Given the description of an element on the screen output the (x, y) to click on. 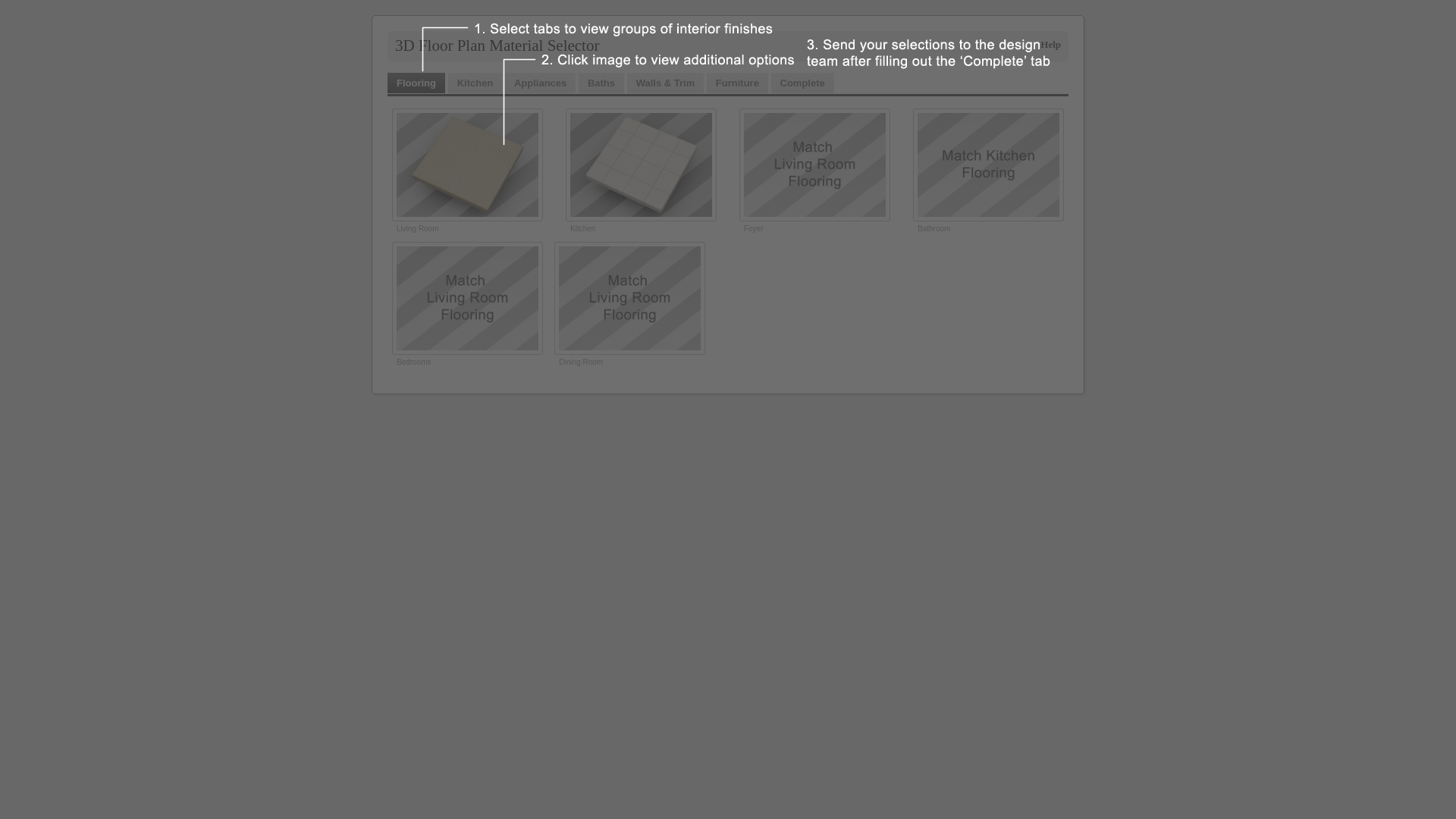
Dining Room Element type: text (580, 361)
Appliances Element type: text (540, 82)
Bathroom Element type: text (933, 228)
Foyer Element type: text (753, 228)
Kitchen Element type: text (582, 228)
Complete Element type: text (802, 82)
Baths Element type: text (601, 82)
Help Element type: text (1050, 44)
Bedrooms Element type: text (413, 361)
Kitchen Element type: text (475, 82)
Flooring Element type: text (416, 82)
Walls & Trim Element type: text (665, 82)
Furniture Element type: text (737, 82)
Living Room Element type: text (417, 228)
